Given the description of an element on the screen output the (x, y) to click on. 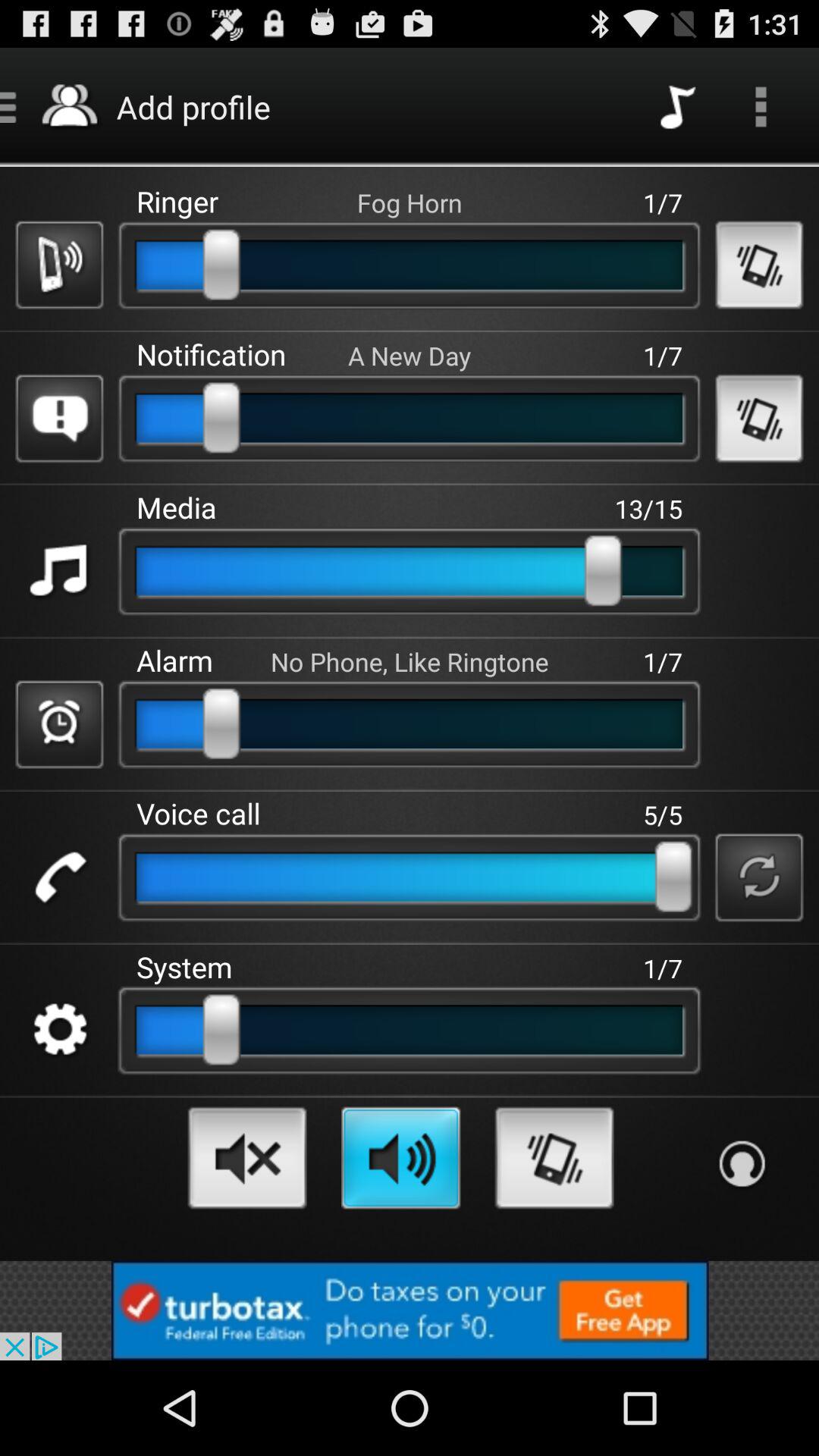
ring tones (554, 1157)
